Given the description of an element on the screen output the (x, y) to click on. 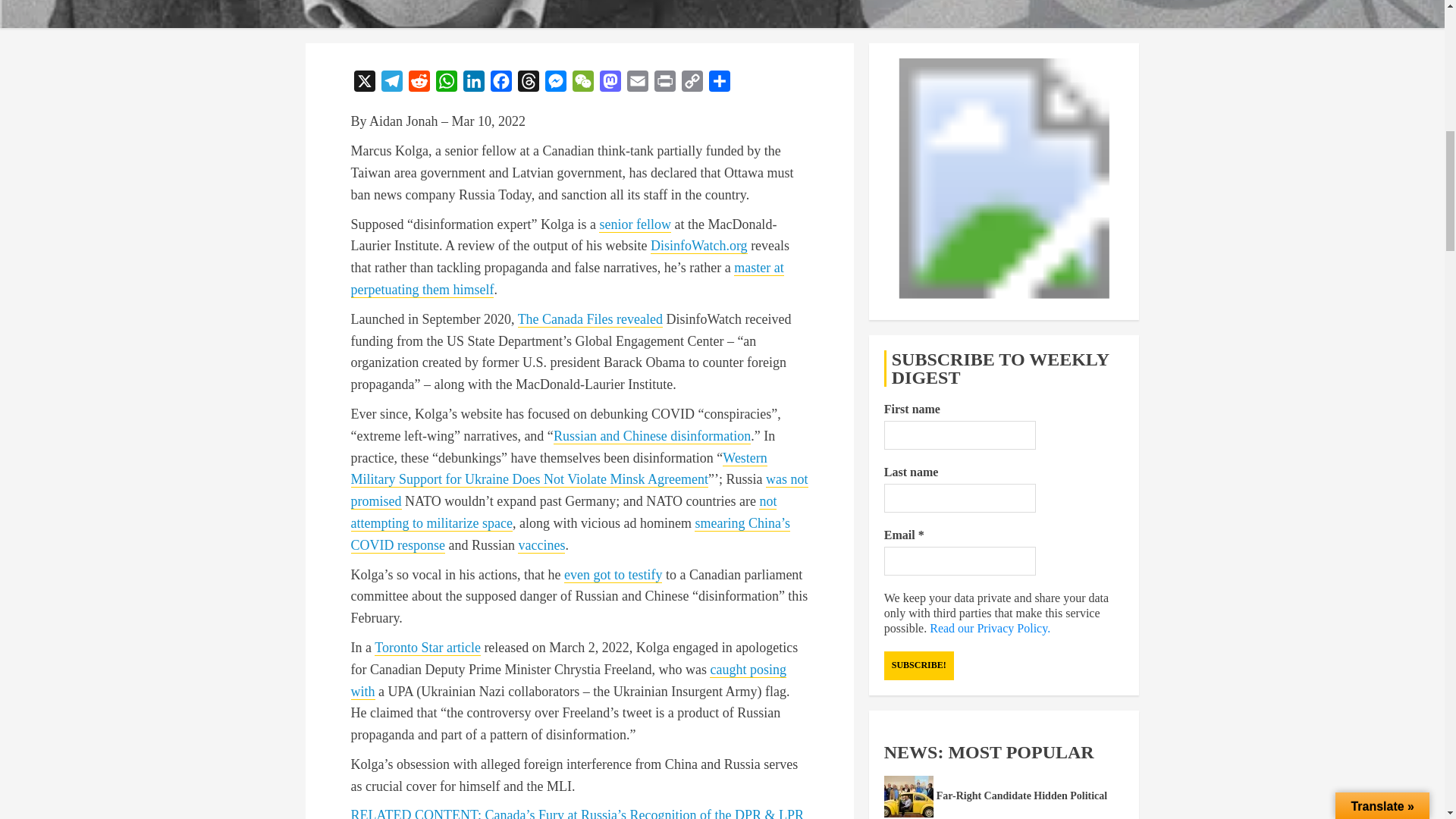
LinkedIn (473, 84)
Messenger (555, 84)
Telegram (390, 84)
X (363, 84)
Copy Link (691, 84)
Facebook (499, 84)
Print (664, 84)
WhatsApp (446, 84)
Threads (527, 84)
Reddit (418, 84)
Email (636, 84)
WeChat (582, 84)
Subscribe! (918, 665)
Mastodon (609, 84)
